Given the description of an element on the screen output the (x, y) to click on. 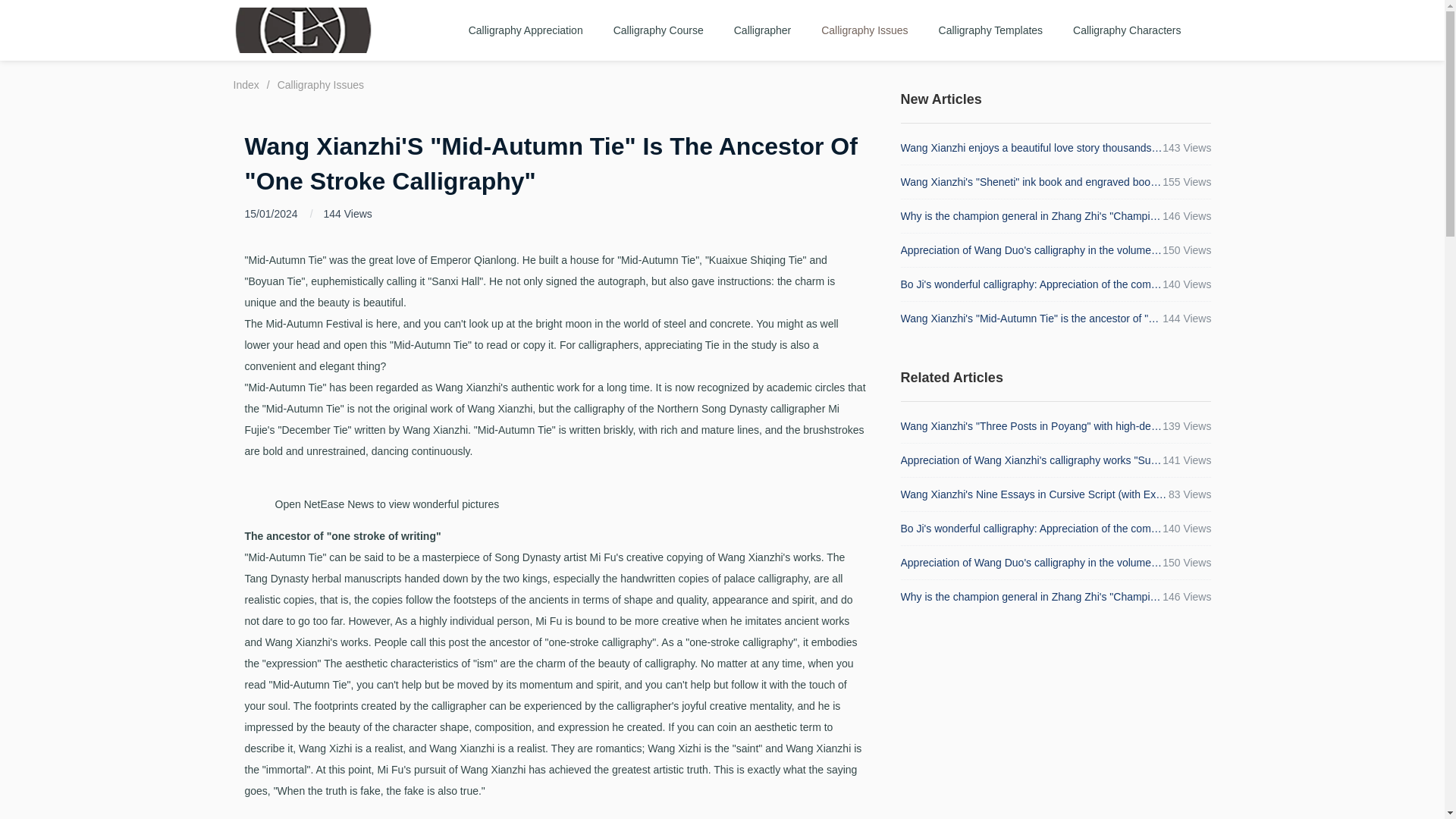
Calligraphy Course (658, 30)
Calligraphy Issues (321, 84)
Calligraphy Appreciation (525, 30)
Calligraphy Characters (1126, 30)
Index (245, 84)
Calligraphy Issues (864, 30)
